Given the description of an element on the screen output the (x, y) to click on. 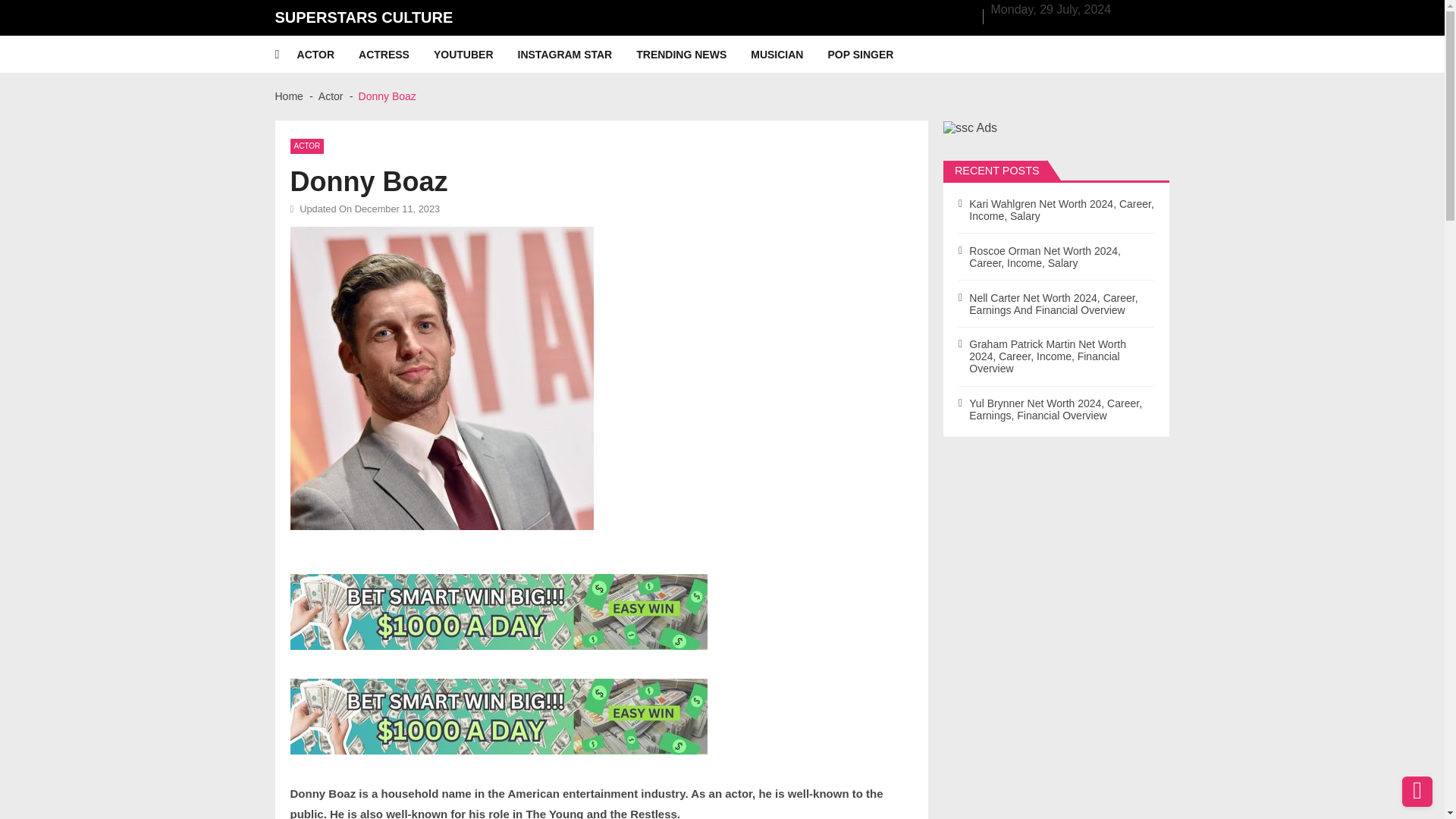
ACTOR (306, 145)
INSTAGRAM STAR (577, 54)
YOUTUBER (475, 54)
Actor (330, 96)
Home (288, 96)
SUPERSTARS CULTURE (363, 17)
ACTOR (328, 54)
MUSICIAN (789, 54)
POP SINGER (872, 54)
ACTRESS (395, 54)
TRENDING NEWS (693, 54)
